Given the description of an element on the screen output the (x, y) to click on. 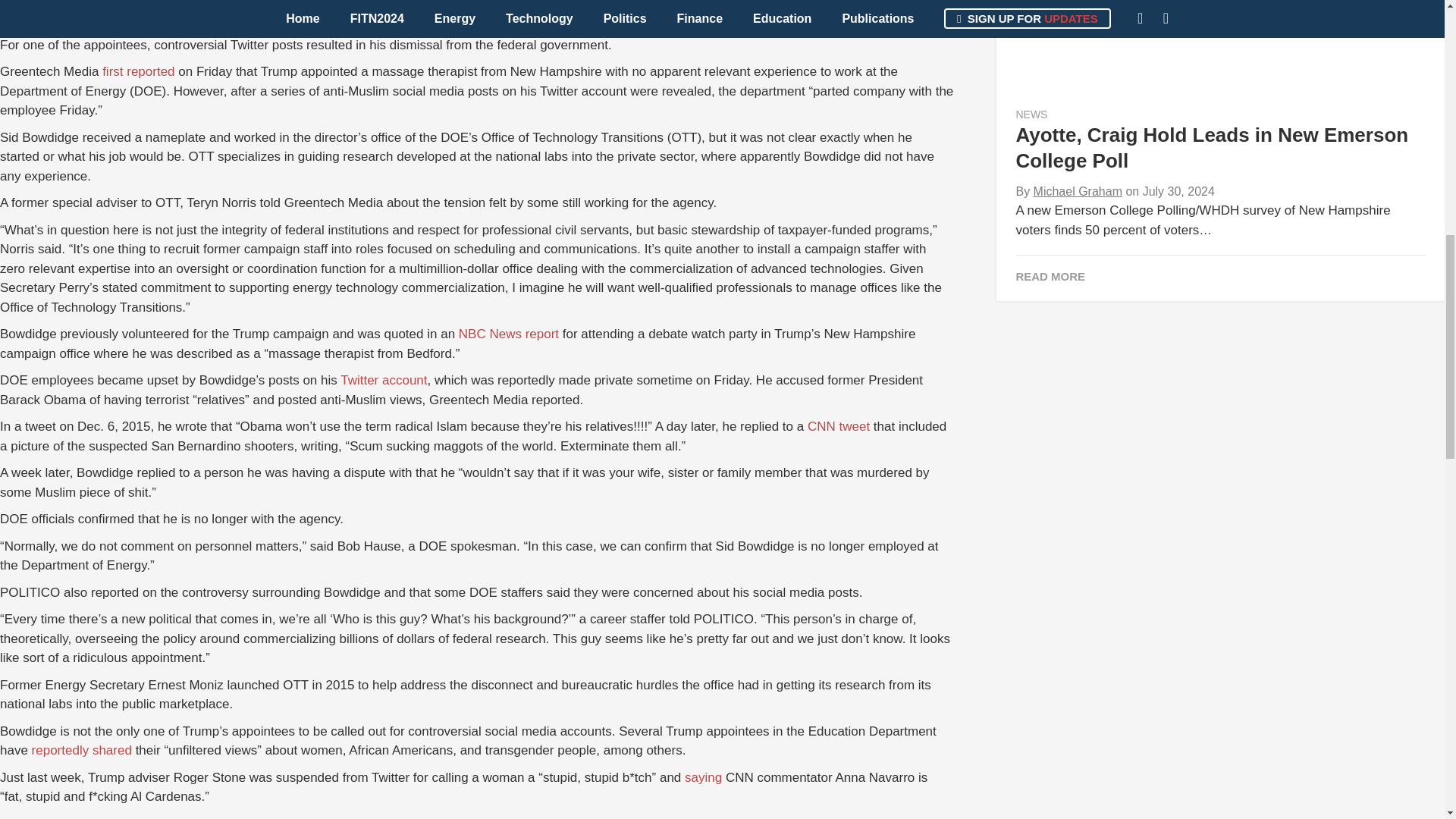
CNN tweet (838, 426)
NBC News report (508, 333)
Posts by Michael Graham (1077, 191)
reportedly shared (82, 749)
Twitter account (383, 380)
first reported (137, 71)
saying (703, 777)
